Given the description of an element on the screen output the (x, y) to click on. 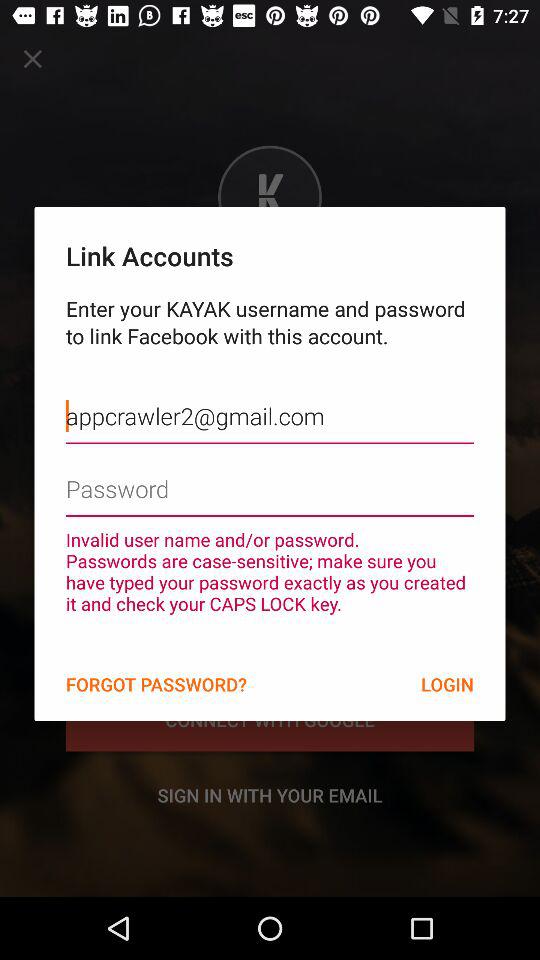
tap item to the right of forgot password? item (447, 683)
